Given the description of an element on the screen output the (x, y) to click on. 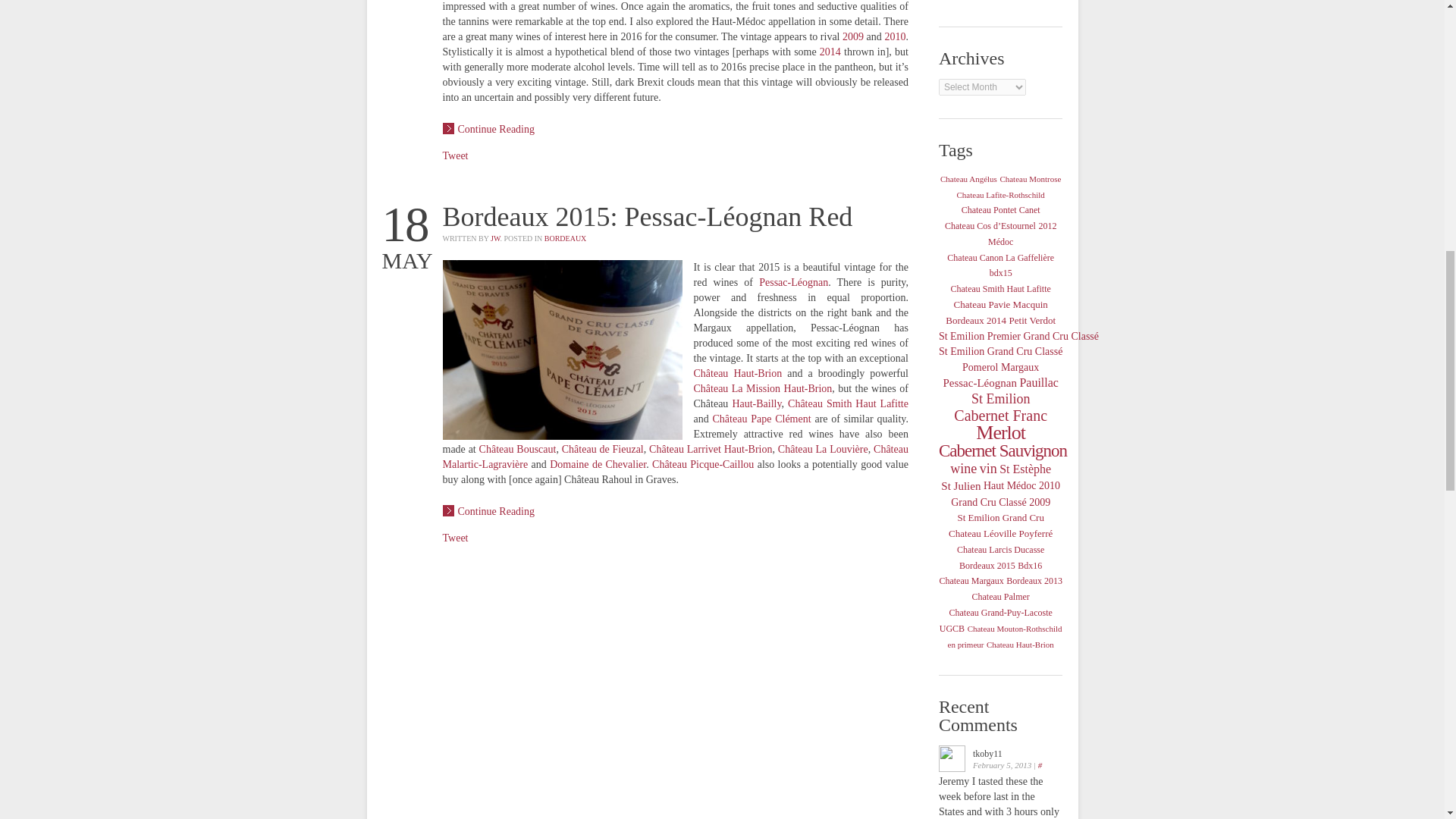
JW (494, 238)
Bordeaux Primeurs 2016: Day 4 (488, 128)
